Given the description of an element on the screen output the (x, y) to click on. 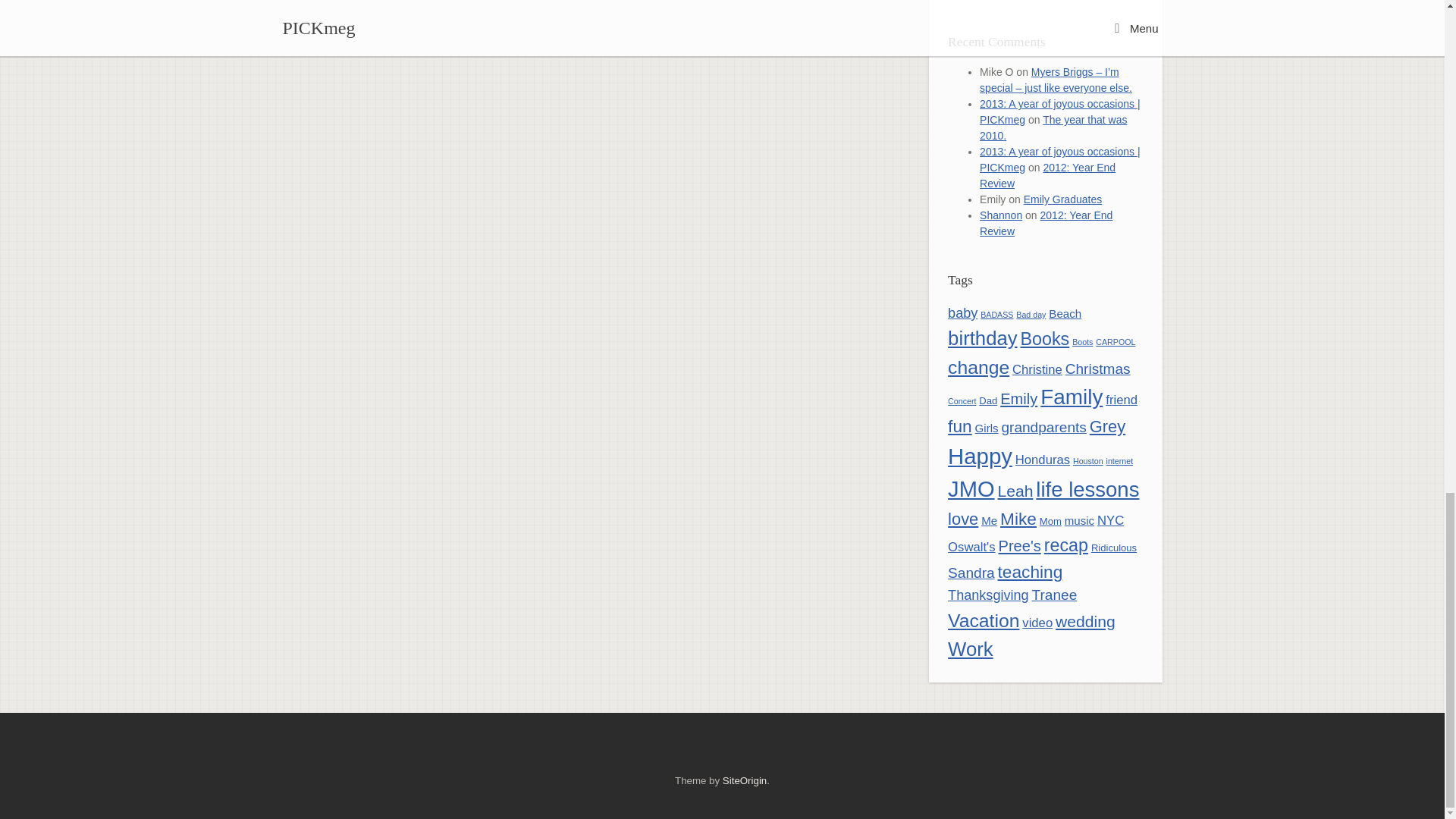
4 topics (1064, 313)
16 topics (982, 337)
2 topics (1030, 314)
2 topics (1115, 341)
2 topics (1082, 341)
6 topics (961, 313)
12 topics (1045, 338)
2 topics (996, 314)
